Given the description of an element on the screen output the (x, y) to click on. 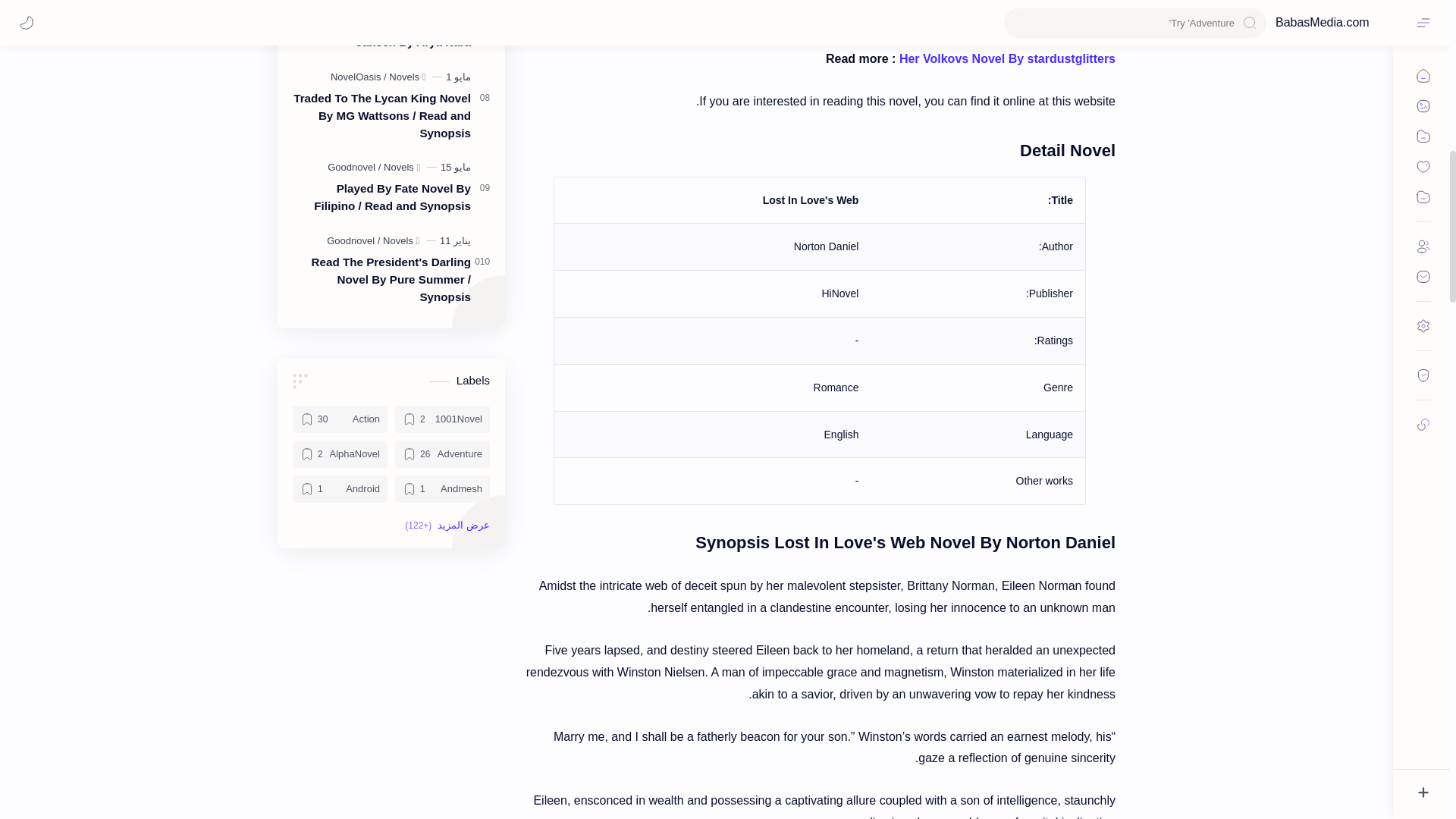
Her Volkovs Novel By stardustglitters (1007, 58)
